Given the description of an element on the screen output the (x, y) to click on. 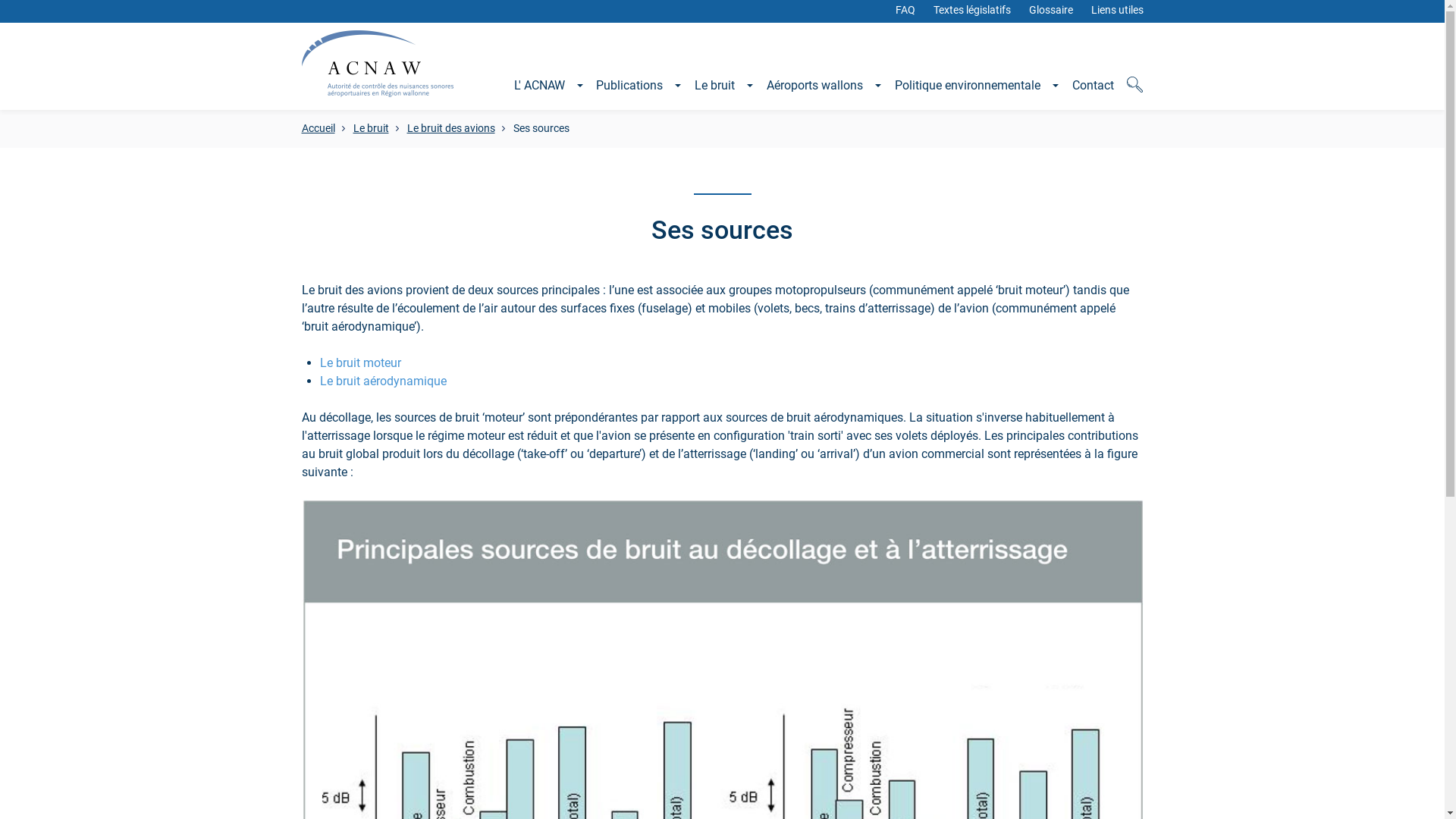
Liens utiles Element type: text (1116, 9)
Recherche Element type: text (1134, 92)
Accueil Element type: hover (377, 100)
FAQ Element type: text (904, 9)
Accueil Element type: text (318, 128)
Glossaire Element type: text (1050, 9)
Contact Element type: text (1092, 92)
Le bruit des avions Element type: text (450, 128)
L' ACNAW Element type: text (548, 92)
Le bruit Element type: text (723, 92)
Le bruit moteur Element type: text (360, 362)
Le bruit Element type: text (371, 128)
Publications Element type: text (638, 92)
Politique environnementale Element type: text (976, 92)
